Given the description of an element on the screen output the (x, y) to click on. 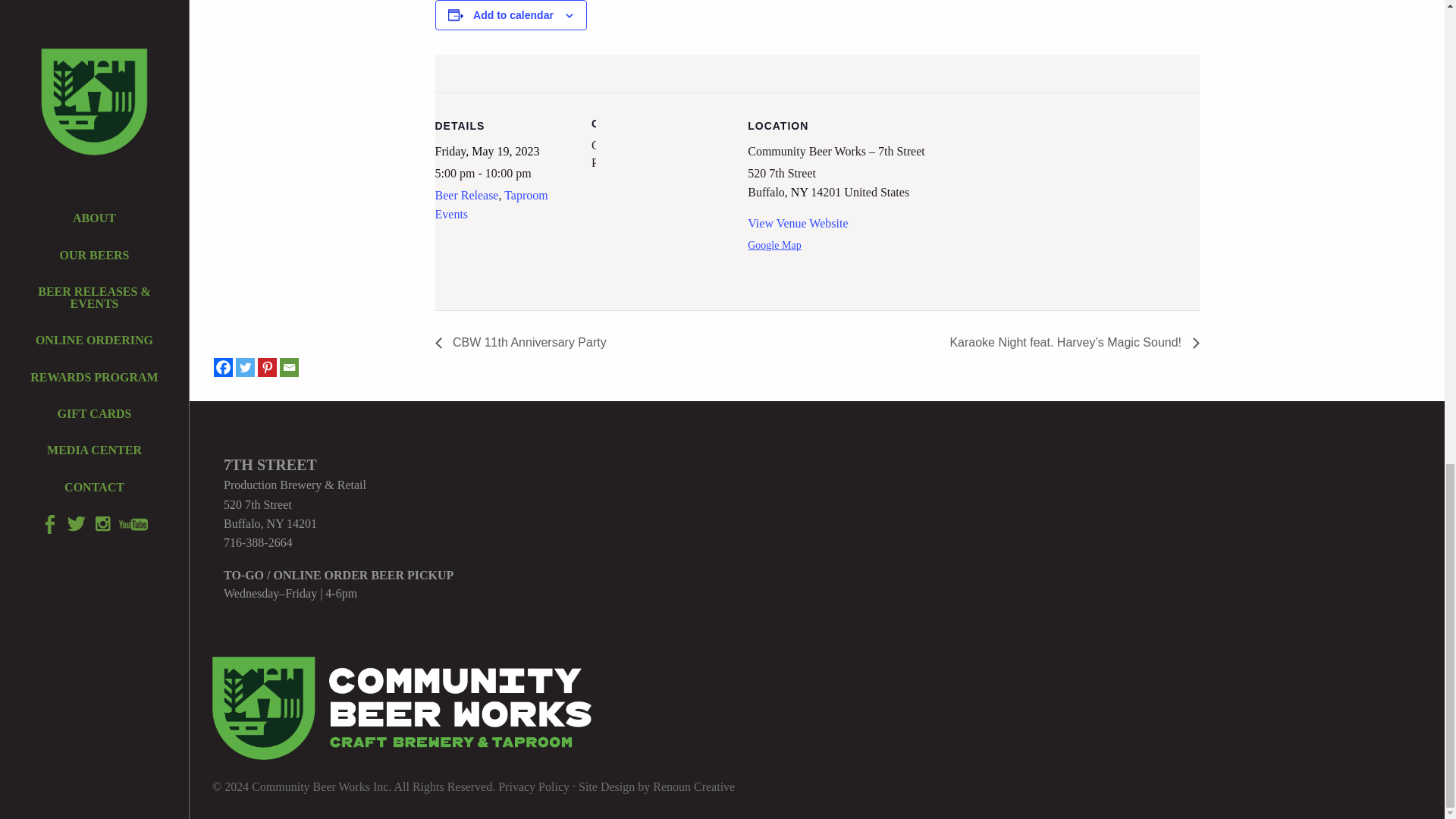
2023-05-19 (504, 172)
Pinterest (266, 366)
Click to view a Google Map (774, 244)
Taproom Events (491, 204)
Facebook (223, 366)
Add to calendar (513, 15)
Beer Release (467, 195)
Twitter (244, 366)
View Venue Website (797, 223)
Email (288, 366)
Google Map (774, 244)
New York (799, 192)
2023-05-19 (487, 151)
